Given the description of an element on the screen output the (x, y) to click on. 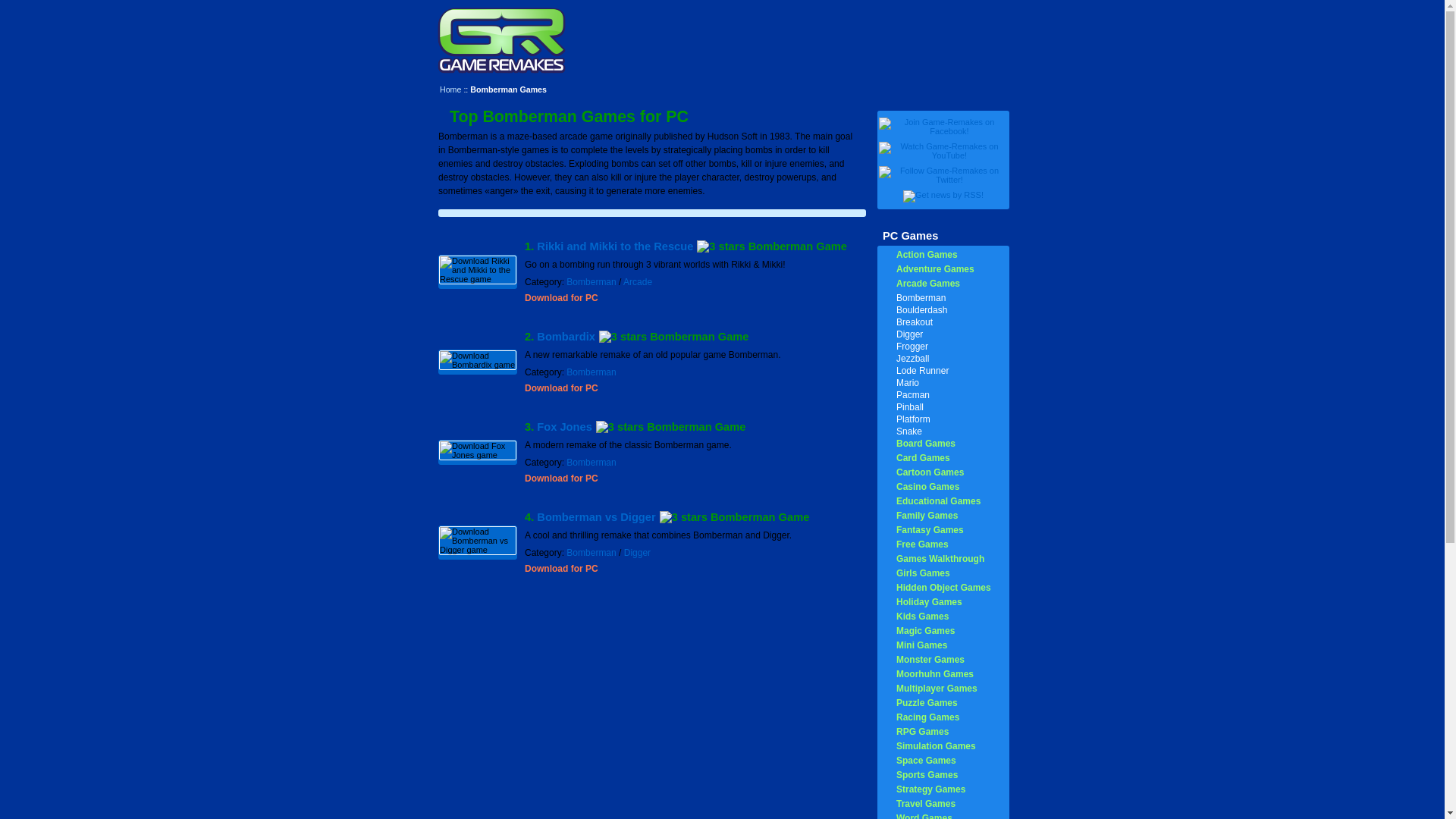
Pacman (913, 394)
Download for PC (561, 478)
Arcade Games (927, 283)
Action Games (927, 254)
Bomberman (590, 462)
Adventure Games (935, 268)
PC Games (909, 235)
Jezzball (912, 357)
Casino Games (927, 486)
Download for PC (561, 388)
